Given the description of an element on the screen output the (x, y) to click on. 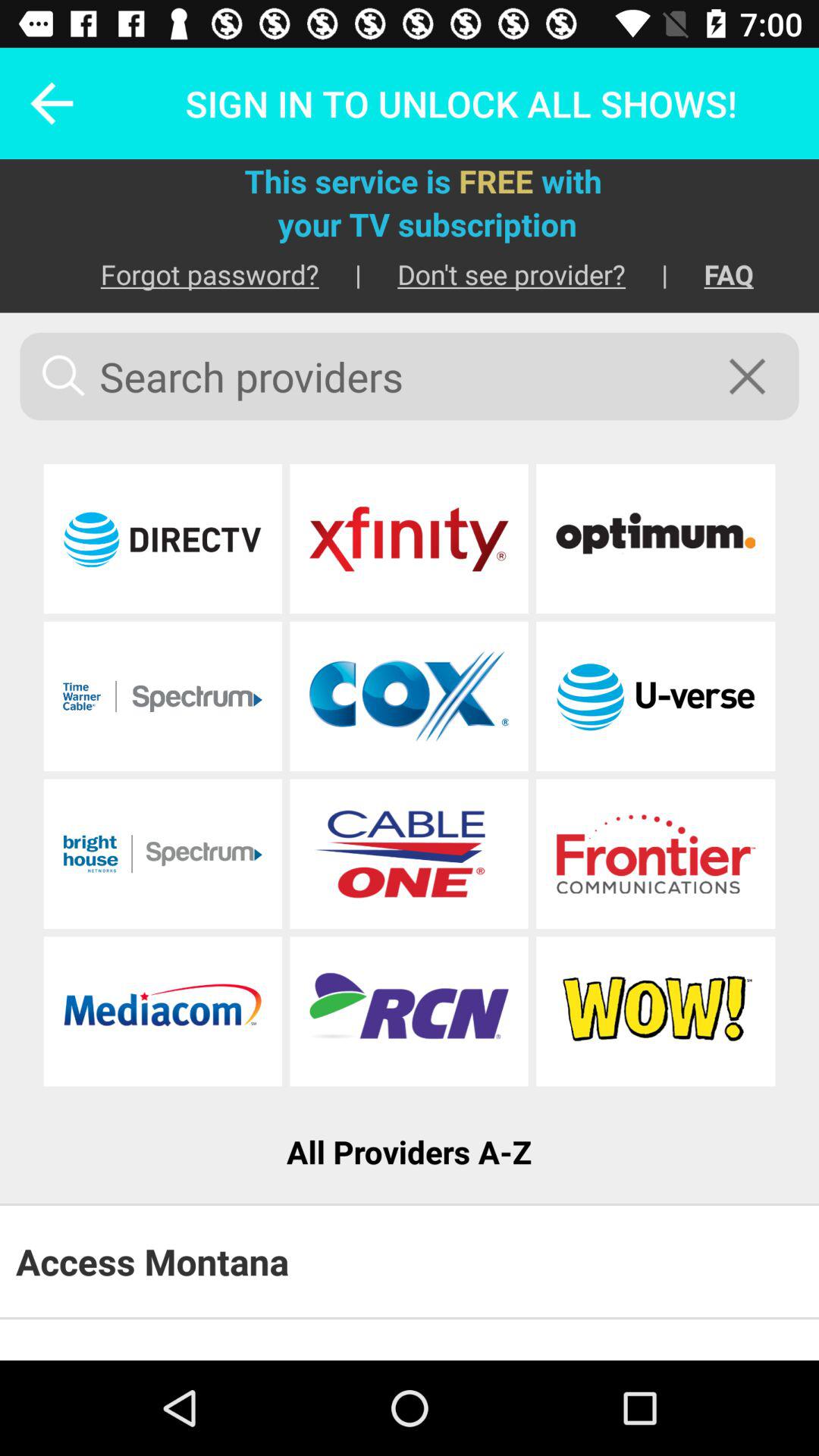
frontier cable provider (655, 853)
